Given the description of an element on the screen output the (x, y) to click on. 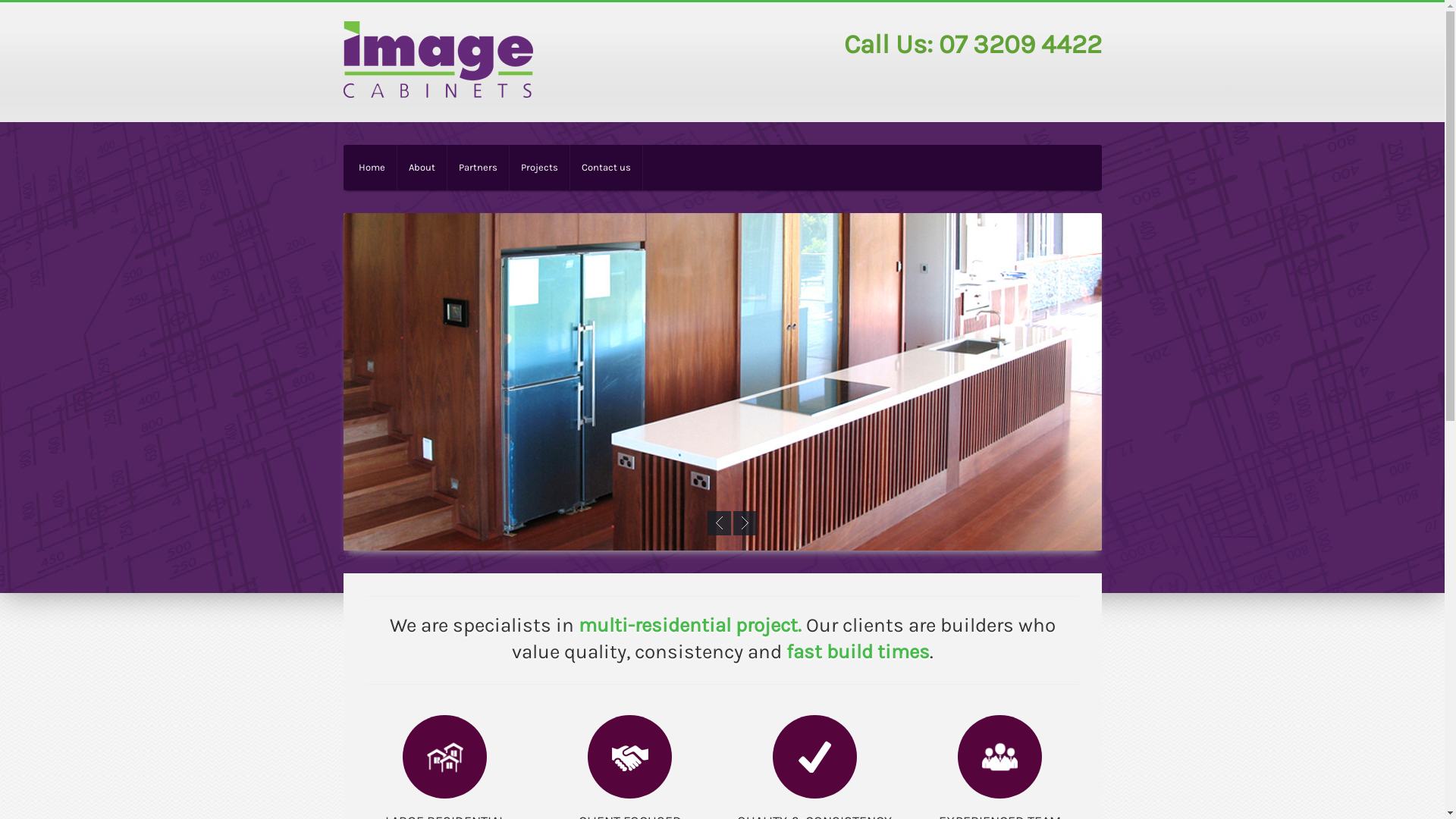
Projects Element type: text (539, 166)
Home Element type: text (368, 166)
Contact us Element type: text (606, 166)
Previous Element type: text (718, 523)
Partners Element type: text (477, 166)
Next Element type: text (744, 523)
About Element type: text (421, 166)
